Given the description of an element on the screen output the (x, y) to click on. 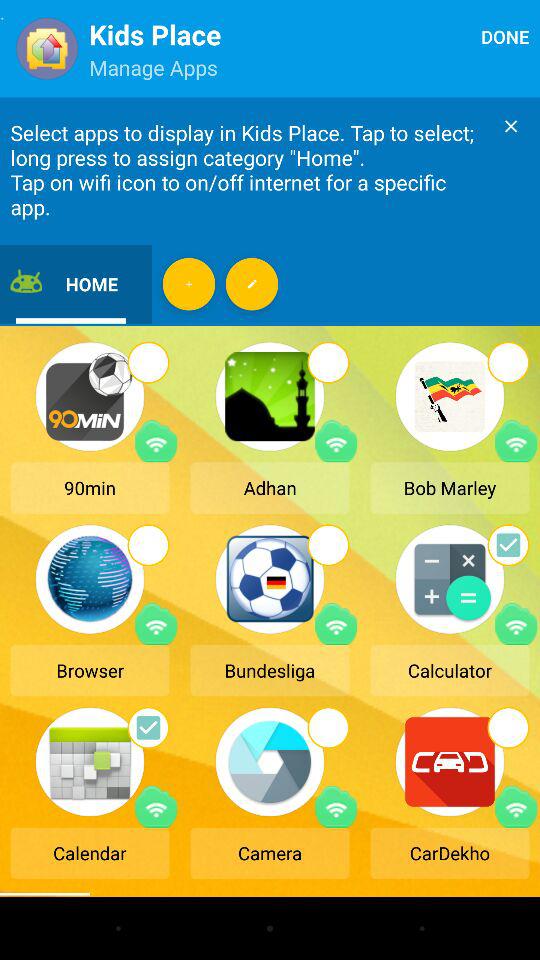
wifi icon on/off (156, 624)
